Given the description of an element on the screen output the (x, y) to click on. 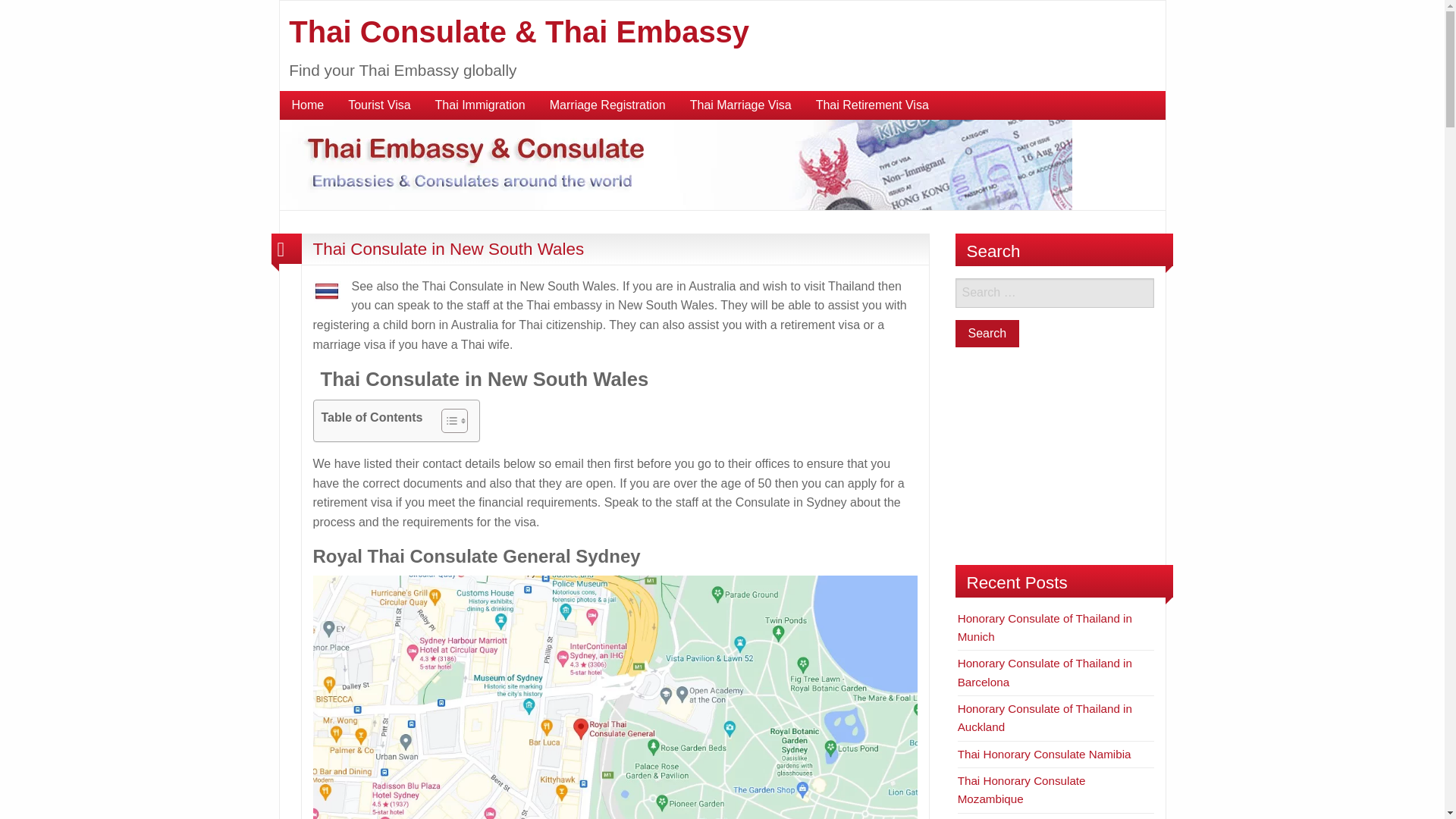
Thai Retirement Visa (871, 104)
Search (987, 333)
Home (307, 104)
Tourist Visa (379, 104)
Marriage Registration (607, 104)
Thai Consulate in New South Wales (448, 248)
Thai Marriage Visa (740, 104)
Thai Immigration (480, 104)
Search (987, 333)
